Given the description of an element on the screen output the (x, y) to click on. 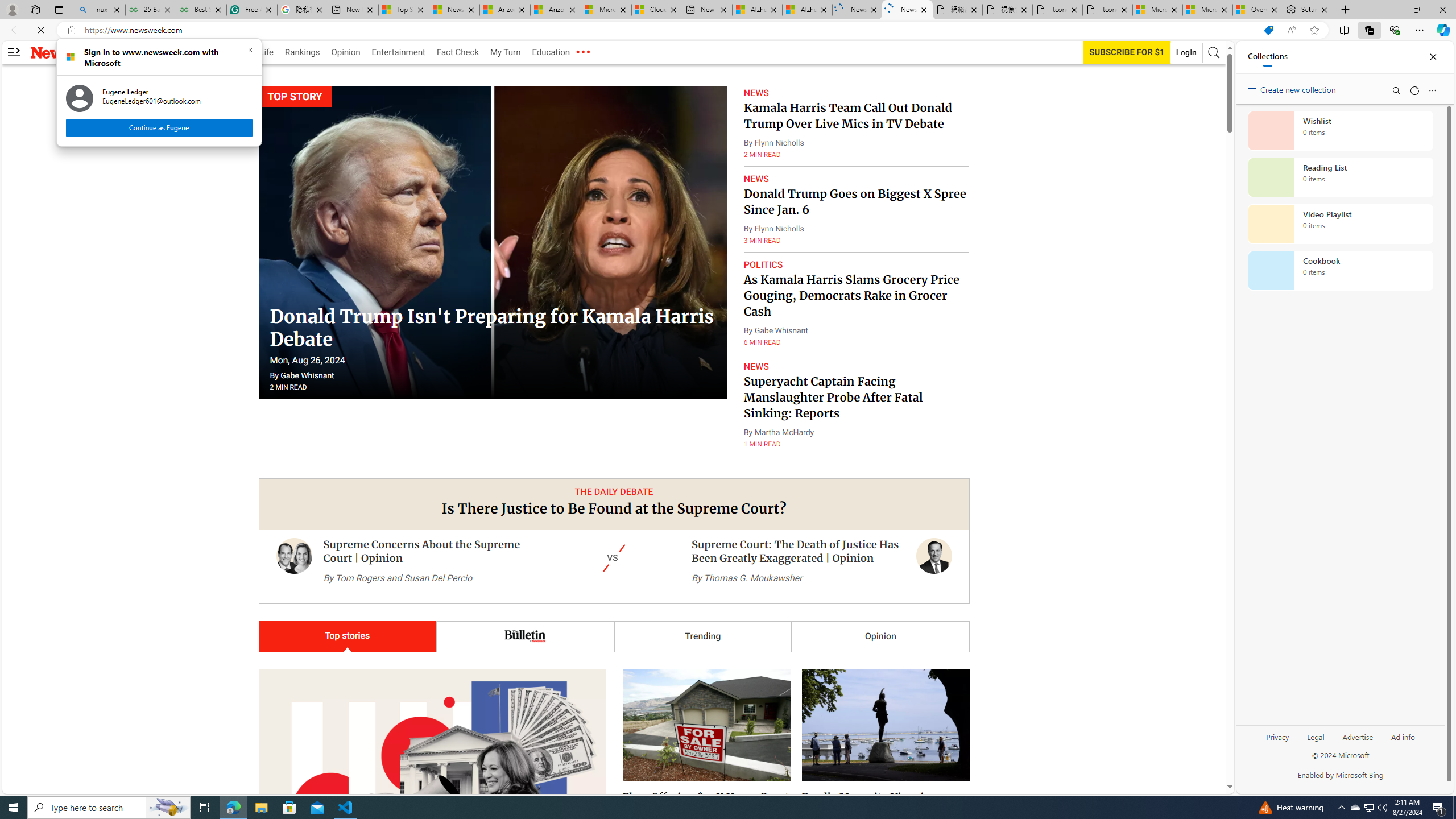
Donald Trump Goes on Biggest X Spree Since Jan. 6 (1355, 807)
Subscribe to our service (855, 201)
My Turn (1126, 52)
Education (505, 52)
itconcepthk.com/projector_solutions.mp4 (550, 52)
More options menu (1107, 9)
AutomationID: moreOptions (1432, 90)
Donald Trump Isn't Preparing for Kamala Harris Debate (582, 51)
